Given the description of an element on the screen output the (x, y) to click on. 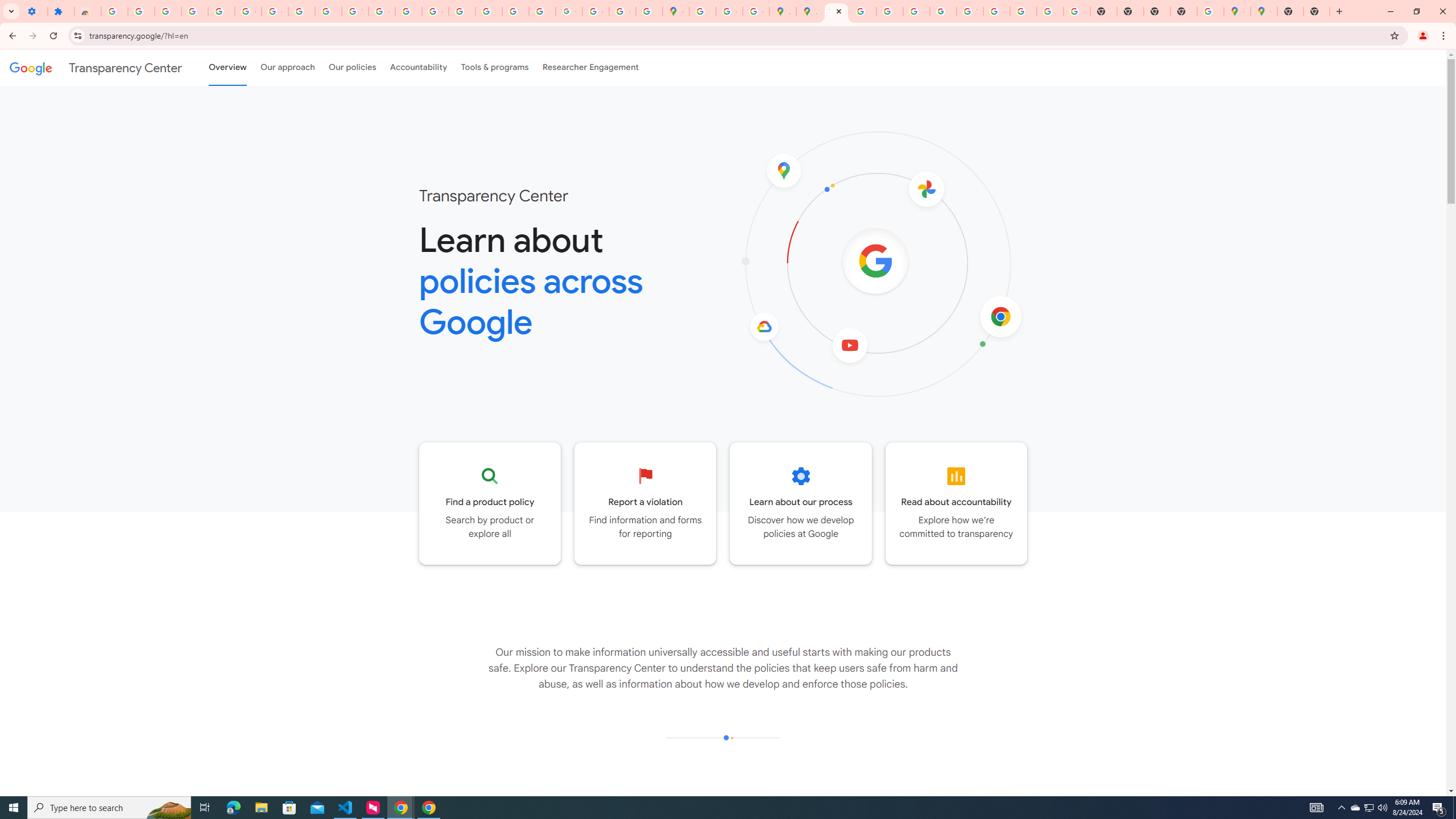
Our policies (351, 67)
Accountability (418, 67)
YouTube (970, 11)
